Given the description of an element on the screen output the (x, y) to click on. 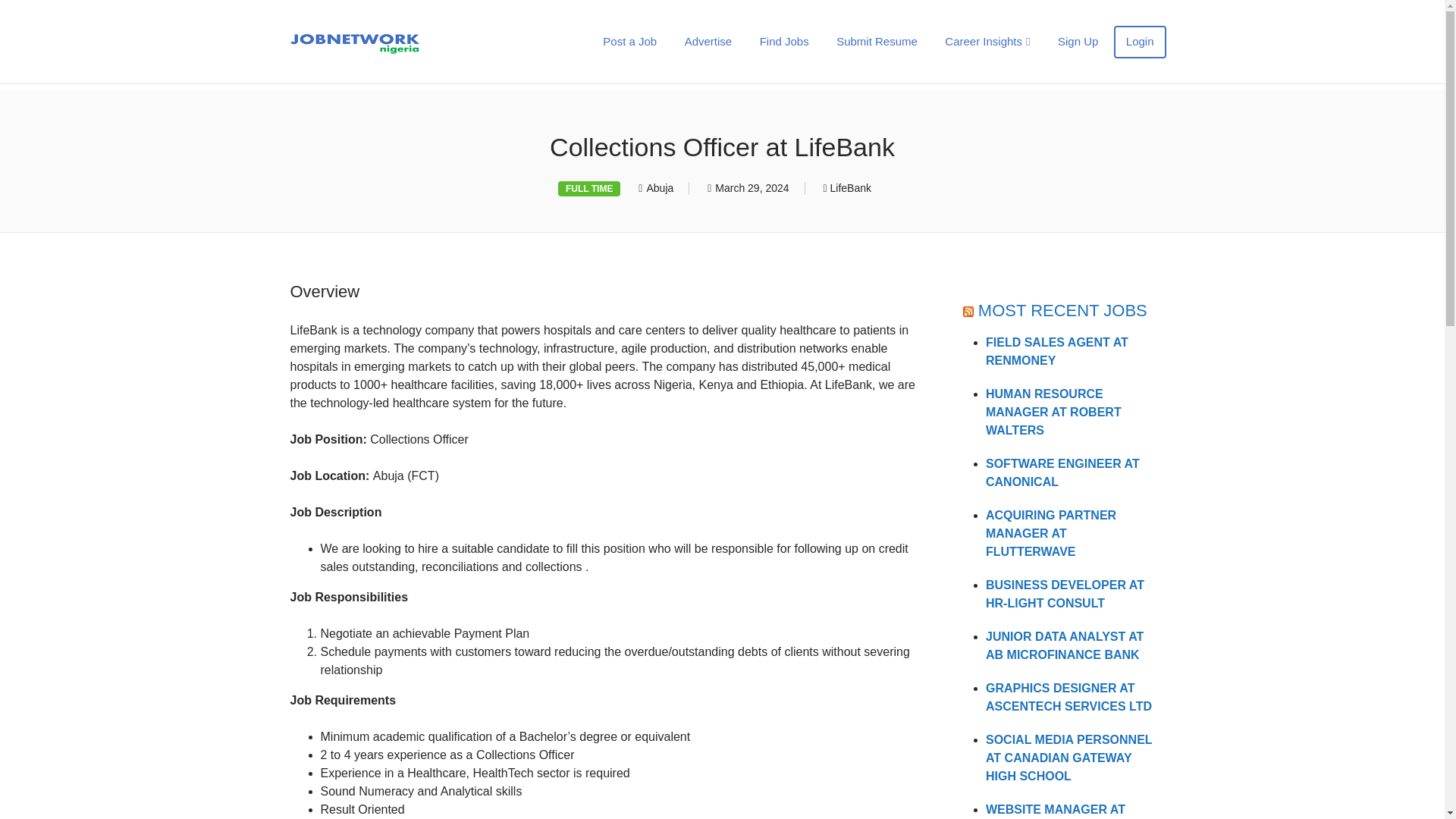
SOCIAL MEDIA PERSONNEL AT CANADIAN GATEWAY HIGH SCHOOL (1068, 757)
Abuja (659, 187)
WEBSITE MANAGER AT CANADIAN GATEWAY HIGH SCHOOL (1066, 811)
Post a Job (629, 41)
ACQUIRING PARTNER MANAGER AT FLUTTERWAVE (1050, 532)
Find Jobs (784, 41)
Submit Resume (877, 41)
Advertise (708, 41)
GRAPHICS DESIGNER AT ASCENTECH SERVICES LTD (1068, 696)
Sign Up (1077, 41)
HUMAN RESOURCE MANAGER AT ROBERT WALTERS (1053, 411)
Career Insights (987, 41)
FIELD SALES AGENT AT RENMONEY (1056, 350)
SOFTWARE ENGINEER AT CANONICAL (1062, 472)
MOST RECENT JOBS (1062, 310)
